Given the description of an element on the screen output the (x, y) to click on. 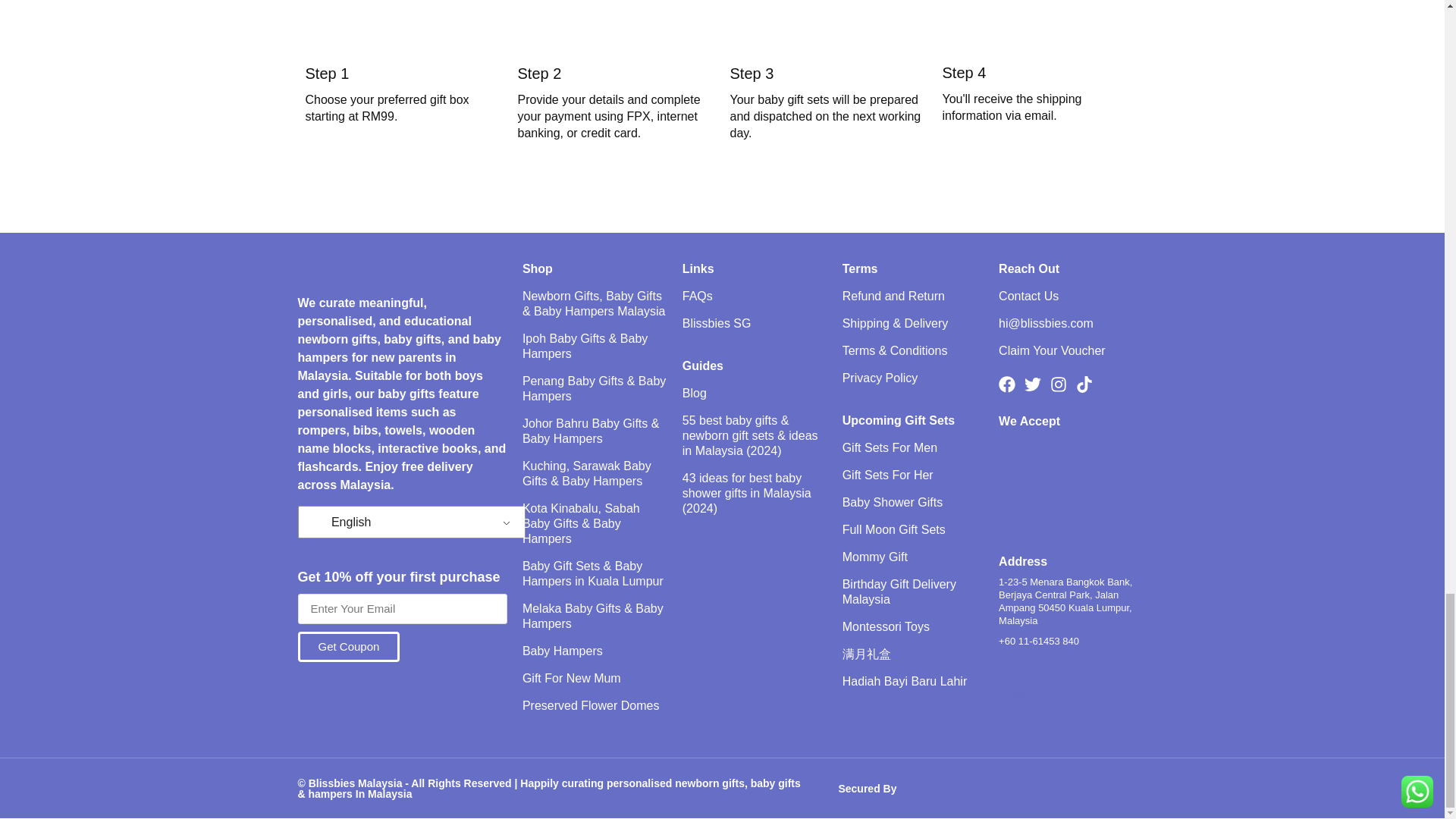
English (407, 522)
English (319, 521)
